Given the description of an element on the screen output the (x, y) to click on. 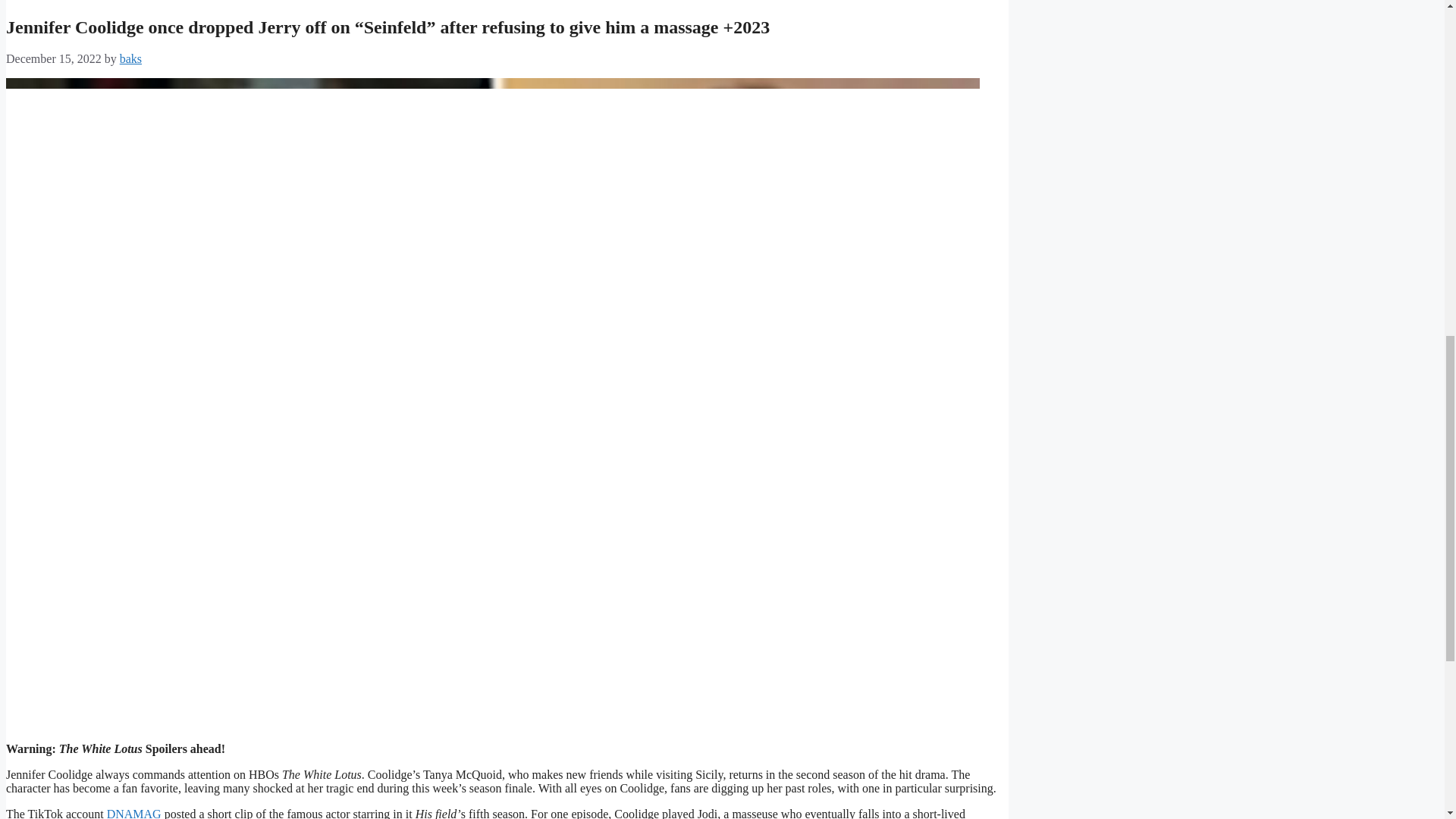
DNAMAG (133, 813)
View all posts by baks (130, 58)
baks (130, 58)
